Given the description of an element on the screen output the (x, y) to click on. 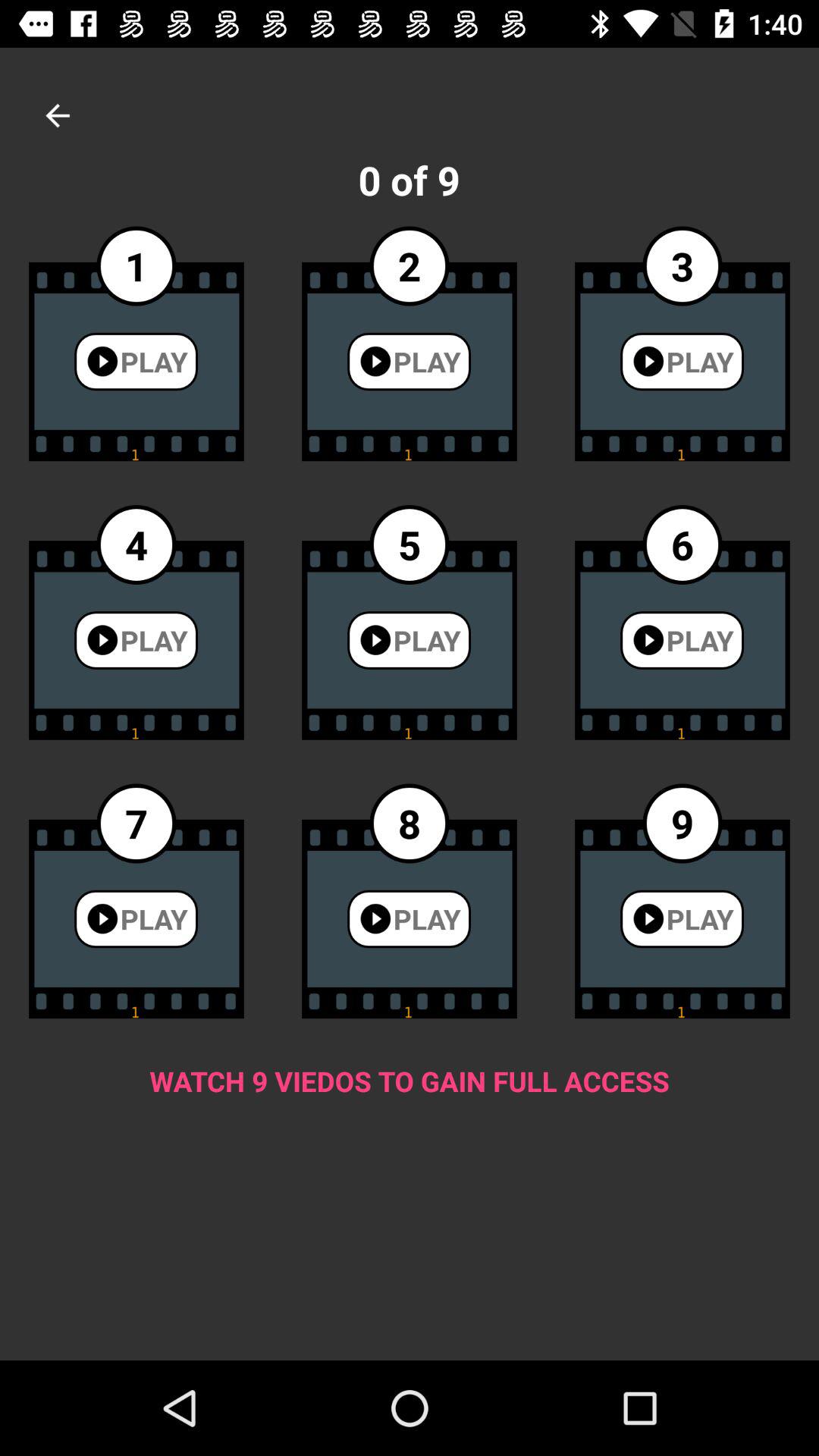
go back to previous page (57, 115)
